Given the description of an element on the screen output the (x, y) to click on. 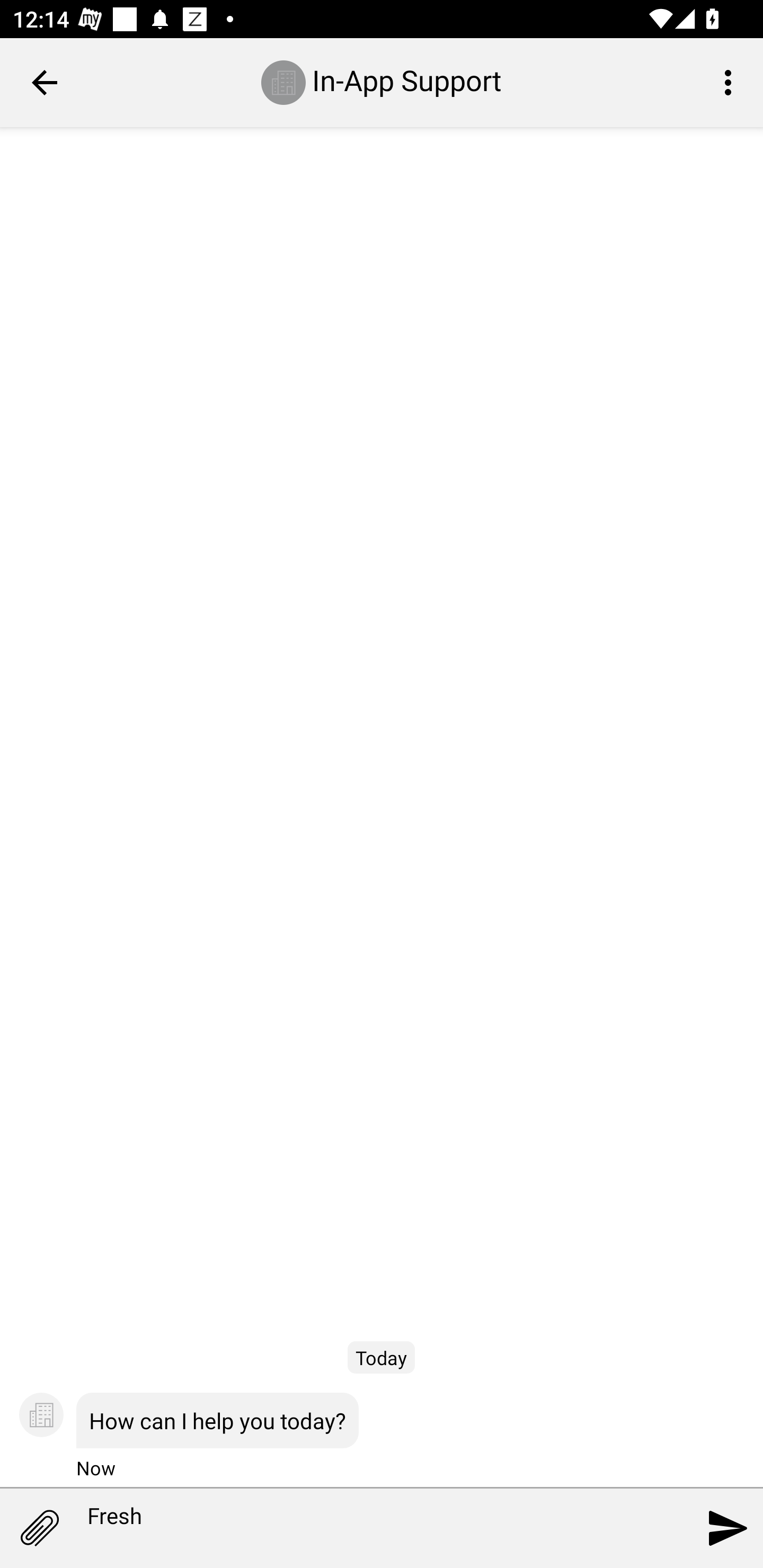
Navigate up (44, 82)
More options (731, 81)
Attachment menu button collapsed (39, 1528)
SEND (727, 1528)
Fresh
 (357, 1528)
